Given the description of an element on the screen output the (x, y) to click on. 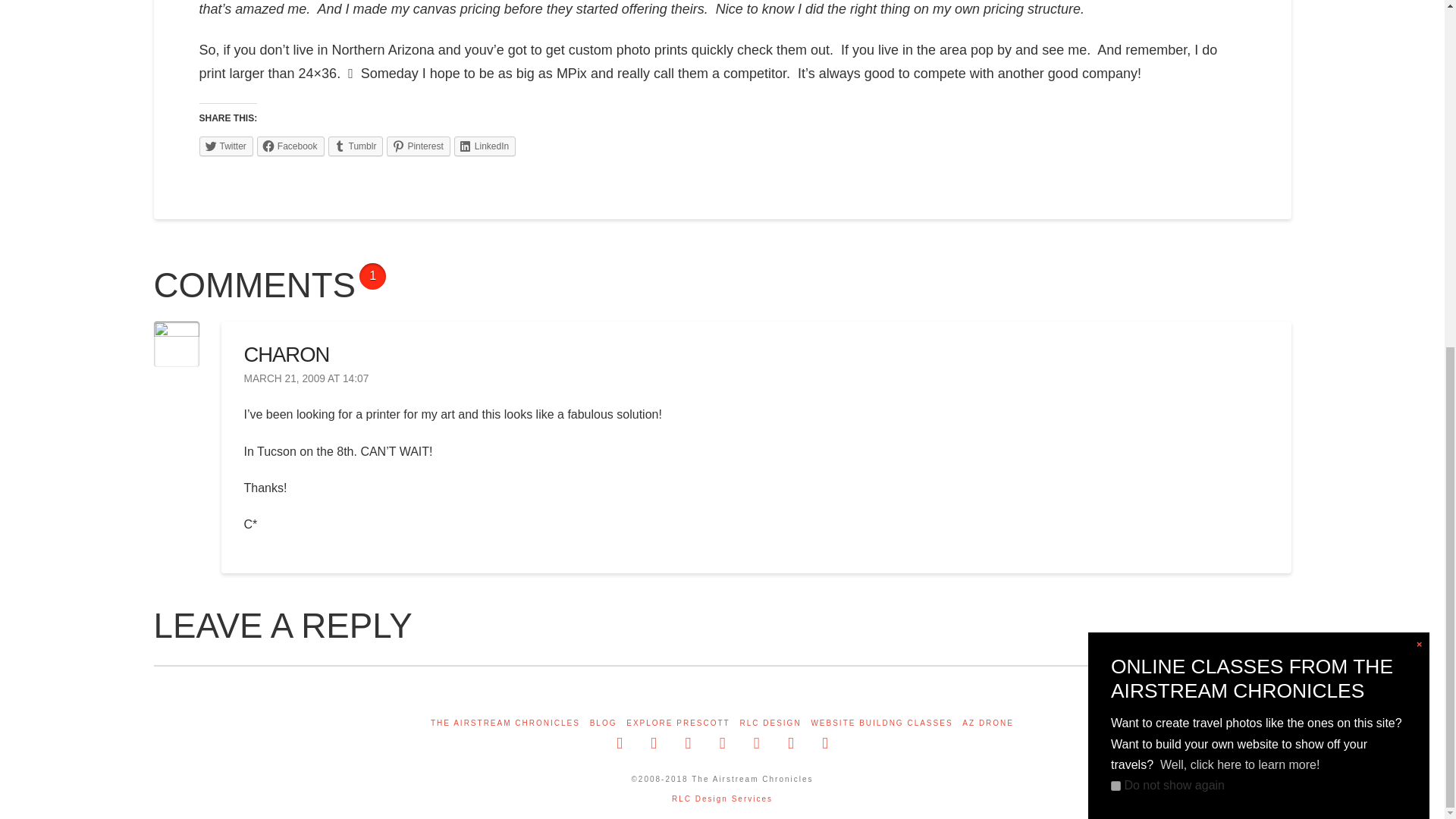
Twitter (224, 146)
Tumblr (356, 146)
MARCH 21, 2009 AT 14:07 (306, 378)
Pinterest (418, 146)
CHARON (287, 354)
Click to share on Tumblr (356, 146)
LinkedIn (484, 146)
1 (1115, 187)
Click to share on Twitter (224, 146)
Click to share on LinkedIn (484, 146)
Facebook (290, 146)
Click to share on Pinterest (418, 146)
Click to share on Facebook (290, 146)
